Given the description of an element on the screen output the (x, y) to click on. 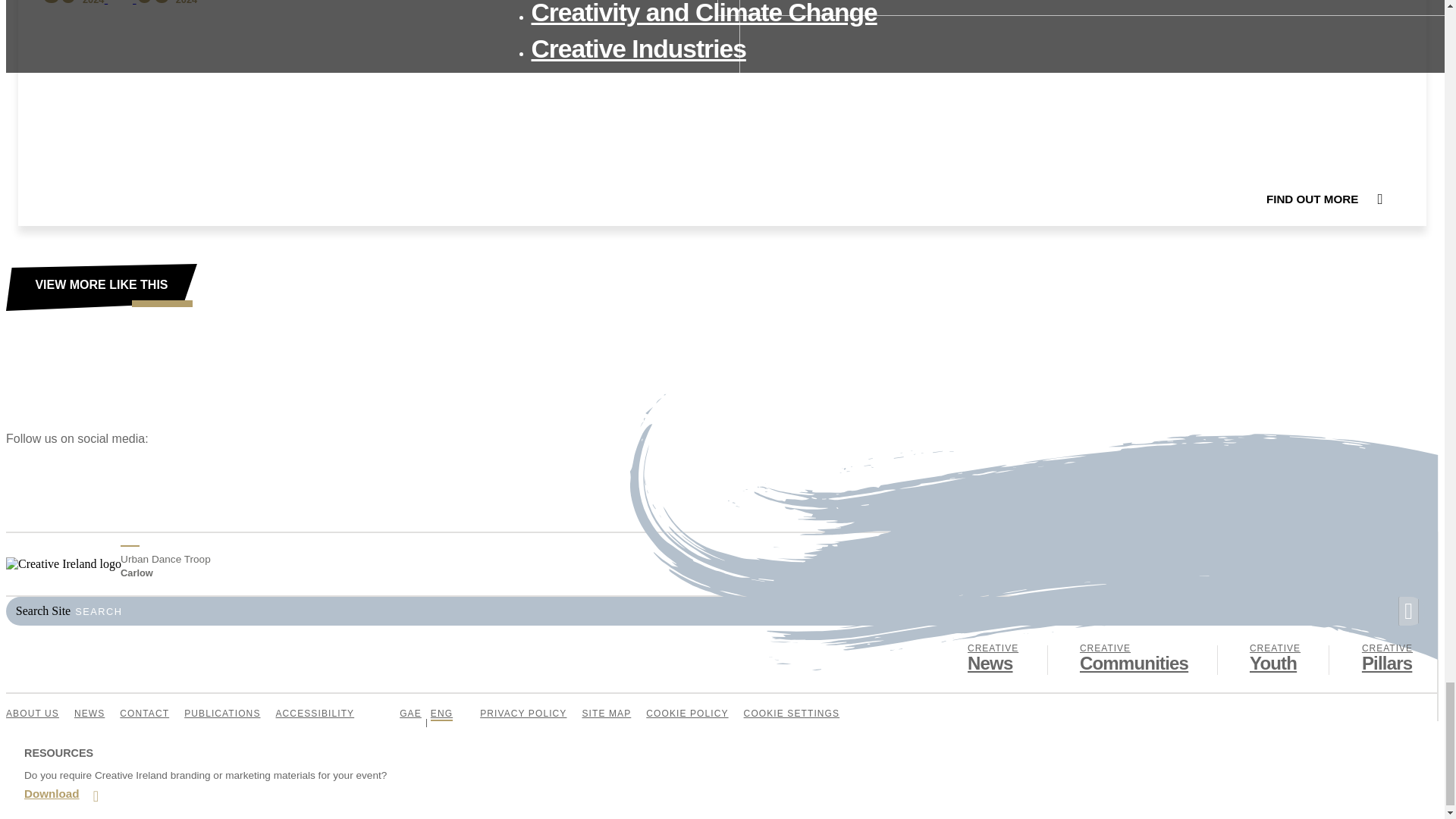
English (441, 715)
Gaeilge (1274, 658)
VIEW MORE LIKE THIS (410, 715)
Positive Ageing Week 2024 (1134, 658)
